Given the description of an element on the screen output the (x, y) to click on. 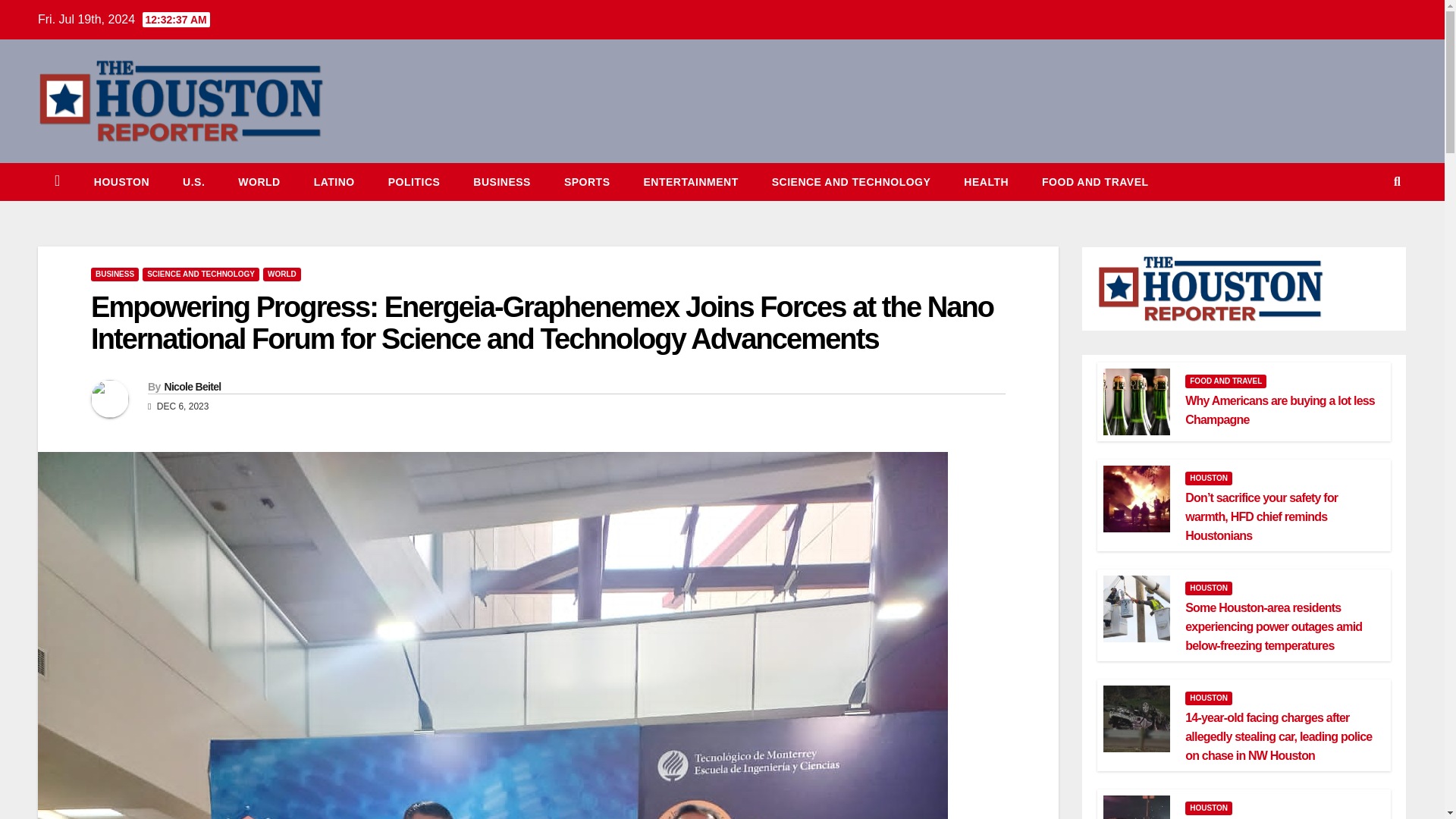
Sports (587, 181)
Entertainment (690, 181)
U.S. (193, 181)
WORLD (282, 274)
U.S. (193, 181)
Houston (121, 181)
Latino (334, 181)
SCIENCE AND TECHNOLOGY (851, 181)
Food and Travel (1095, 181)
Health (986, 181)
Science and Technology (851, 181)
HEALTH (986, 181)
ENTERTAINMENT (690, 181)
LATINO (334, 181)
